Given the description of an element on the screen output the (x, y) to click on. 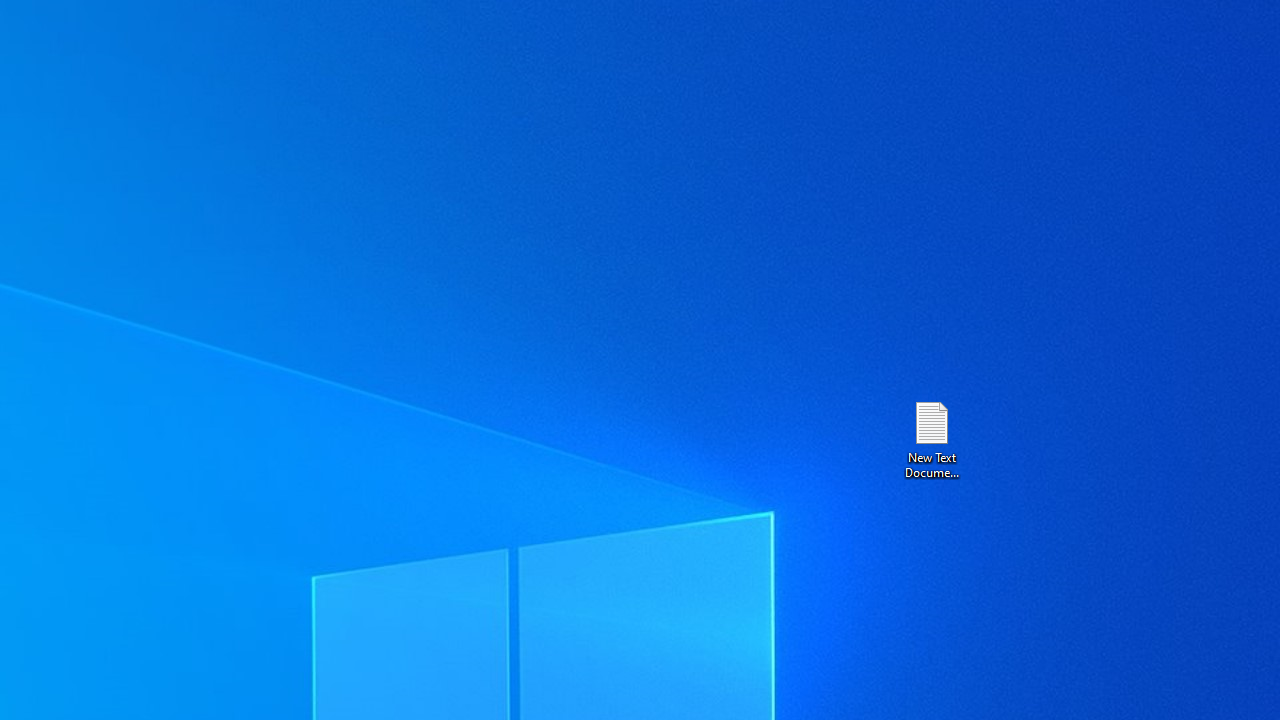
New Text Document (2) (931, 438)
